Given the description of an element on the screen output the (x, y) to click on. 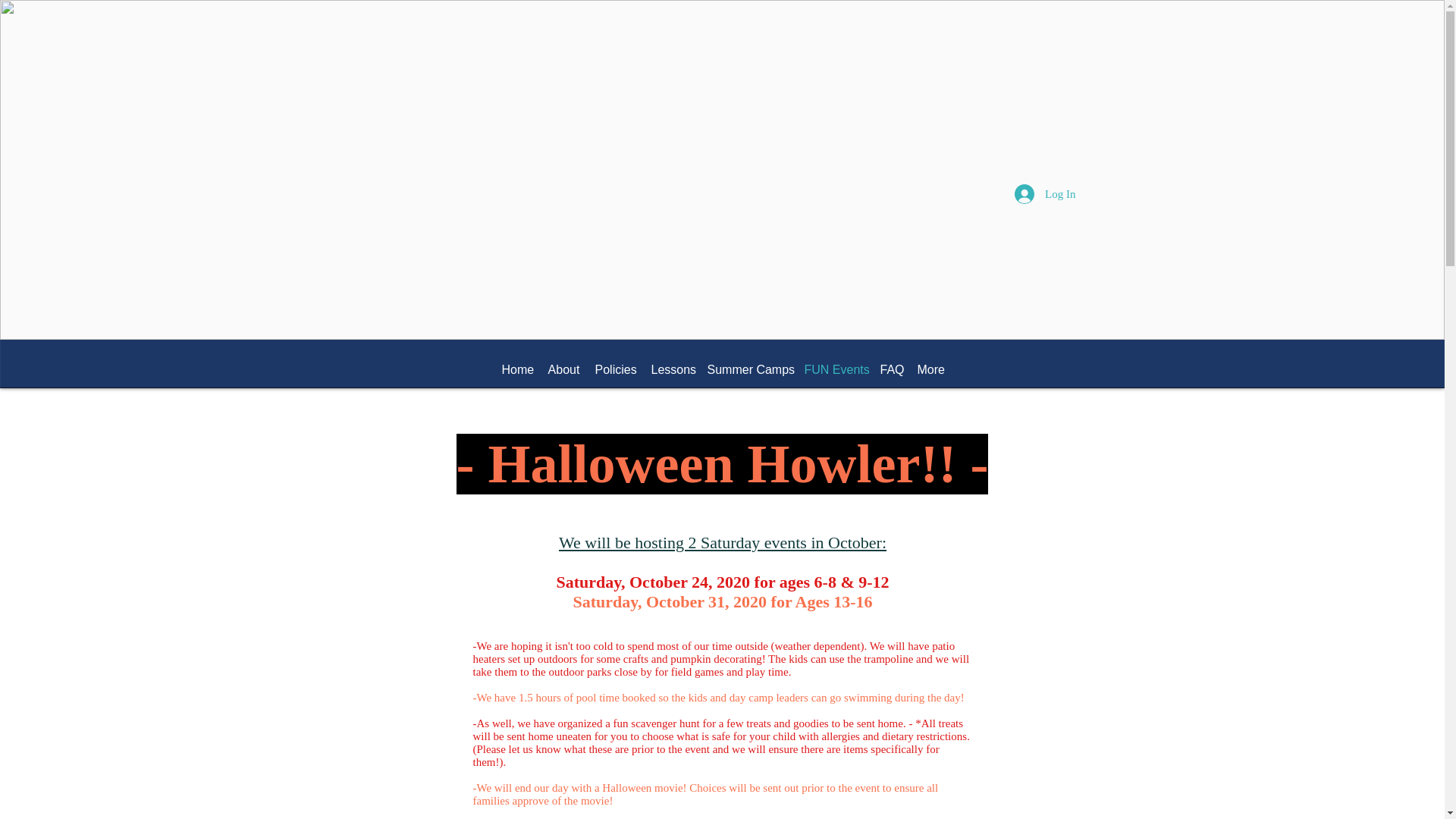
About (563, 369)
Summer Camps (747, 369)
Policies (614, 369)
FAQ (890, 369)
Home (517, 369)
FUN Events (834, 369)
Log In (1045, 193)
Lessons (670, 369)
